Given the description of an element on the screen output the (x, y) to click on. 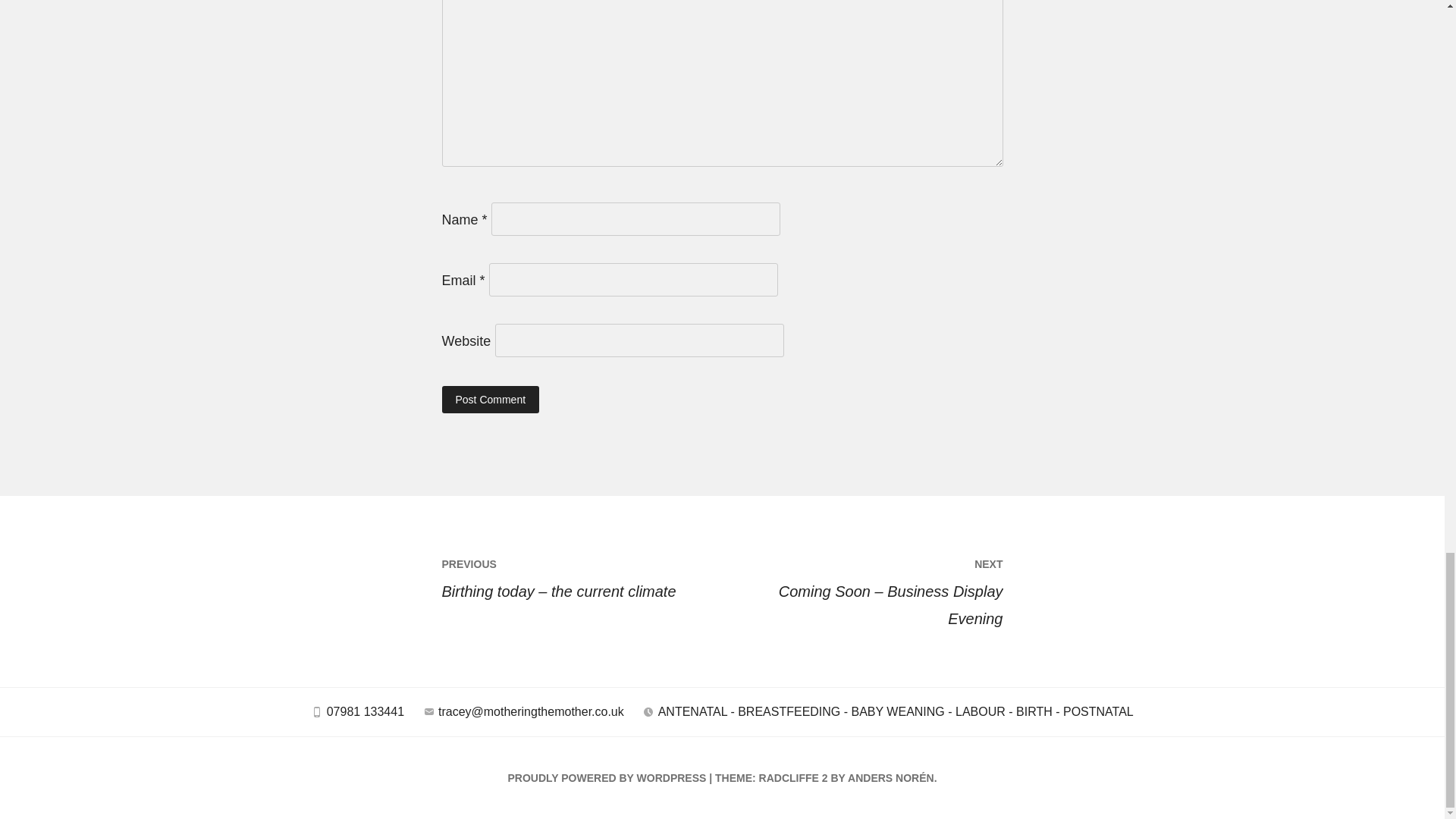
Post Comment (489, 399)
PROUDLY POWERED BY WORDPRESS (606, 777)
Hours (647, 711)
Email (429, 711)
Phone 07981 133441 (357, 715)
Phone (317, 711)
Post Comment (489, 399)
